Given the description of an element on the screen output the (x, y) to click on. 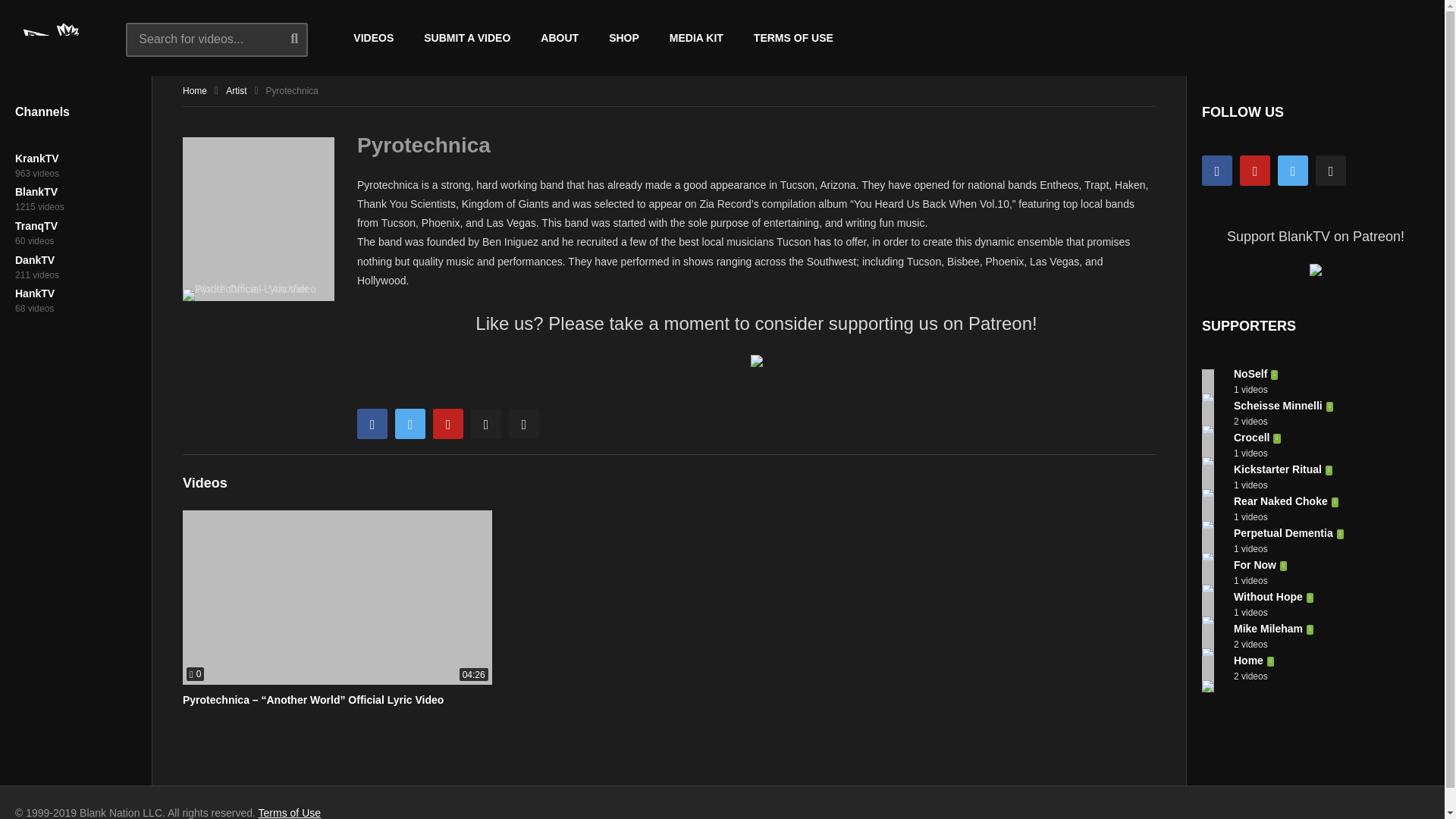
SEARCH (305, 37)
YouTube (1254, 170)
bandcamp (485, 423)
KrankTV (36, 158)
TERMS OF USE (793, 38)
Artist (235, 90)
MEDIA KIT (695, 38)
BlankTV (36, 191)
Twitter (1292, 170)
DankTV (34, 259)
